Given the description of an element on the screen output the (x, y) to click on. 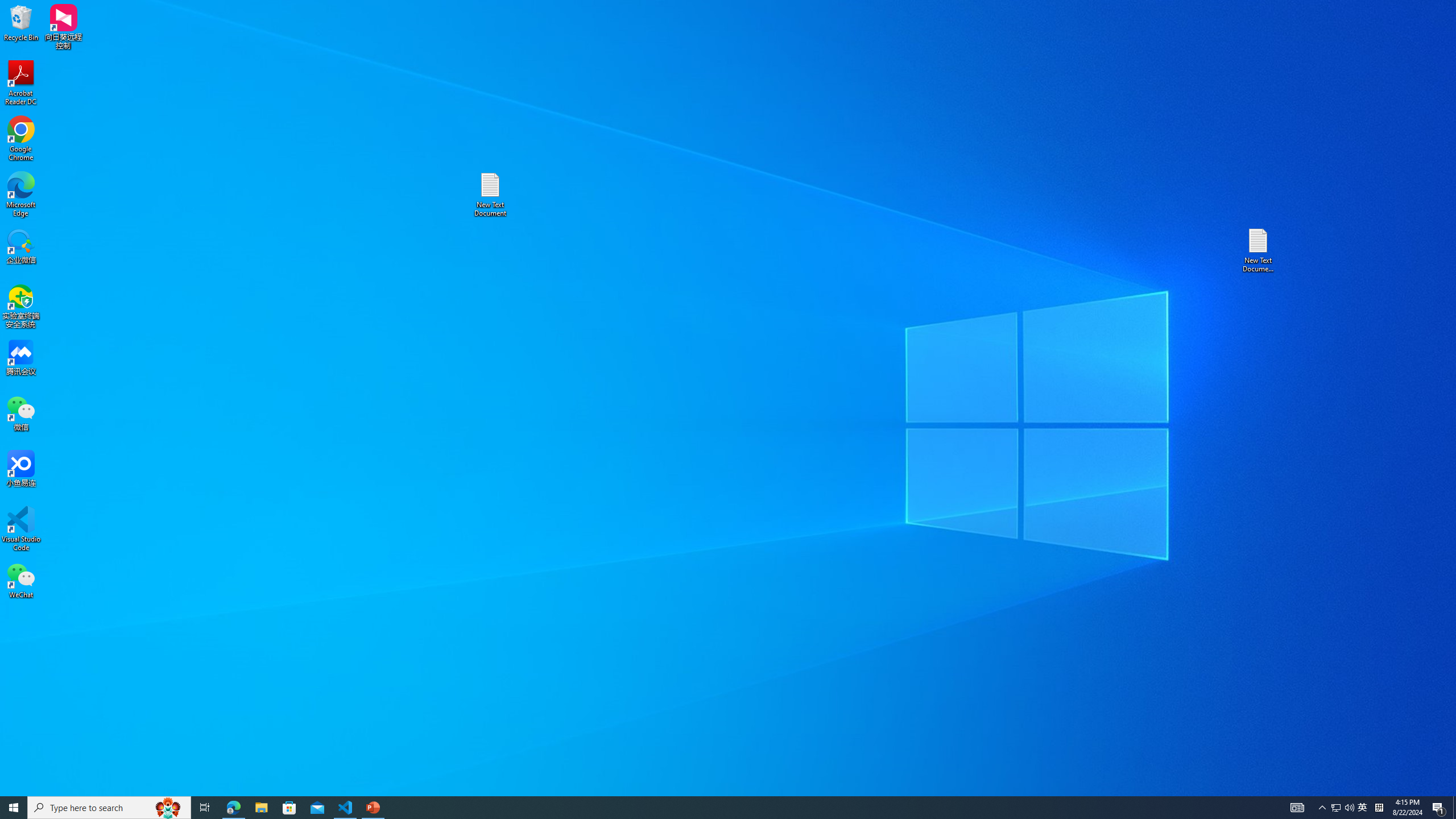
Icons (240, 58)
